Given the description of an element on the screen output the (x, y) to click on. 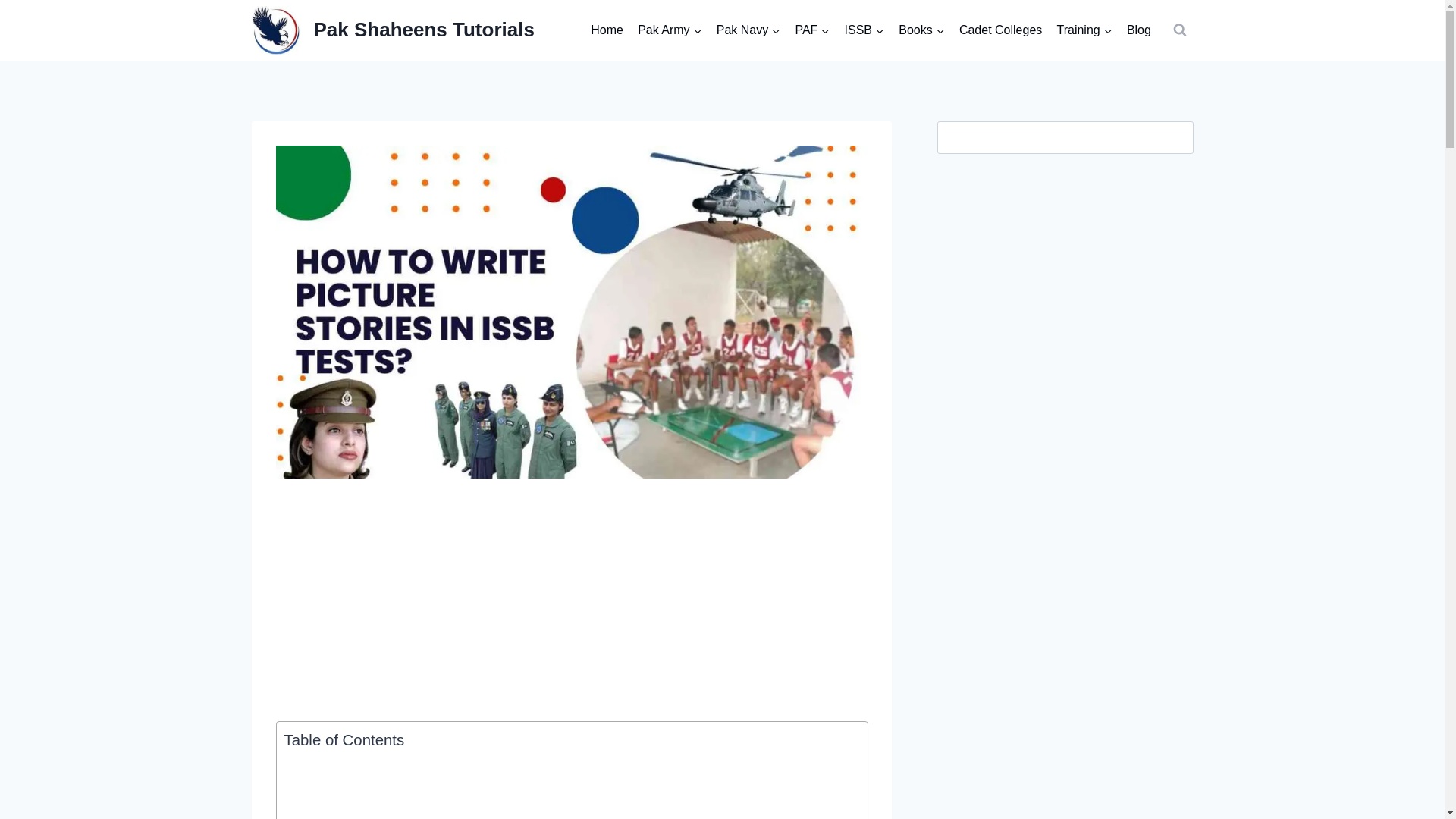
Home (606, 30)
Advertisement (571, 608)
Advertisement (567, 788)
Pak Army (670, 30)
Pak Navy (748, 30)
Pak Shaheens Tutorials (392, 29)
